Given the description of an element on the screen output the (x, y) to click on. 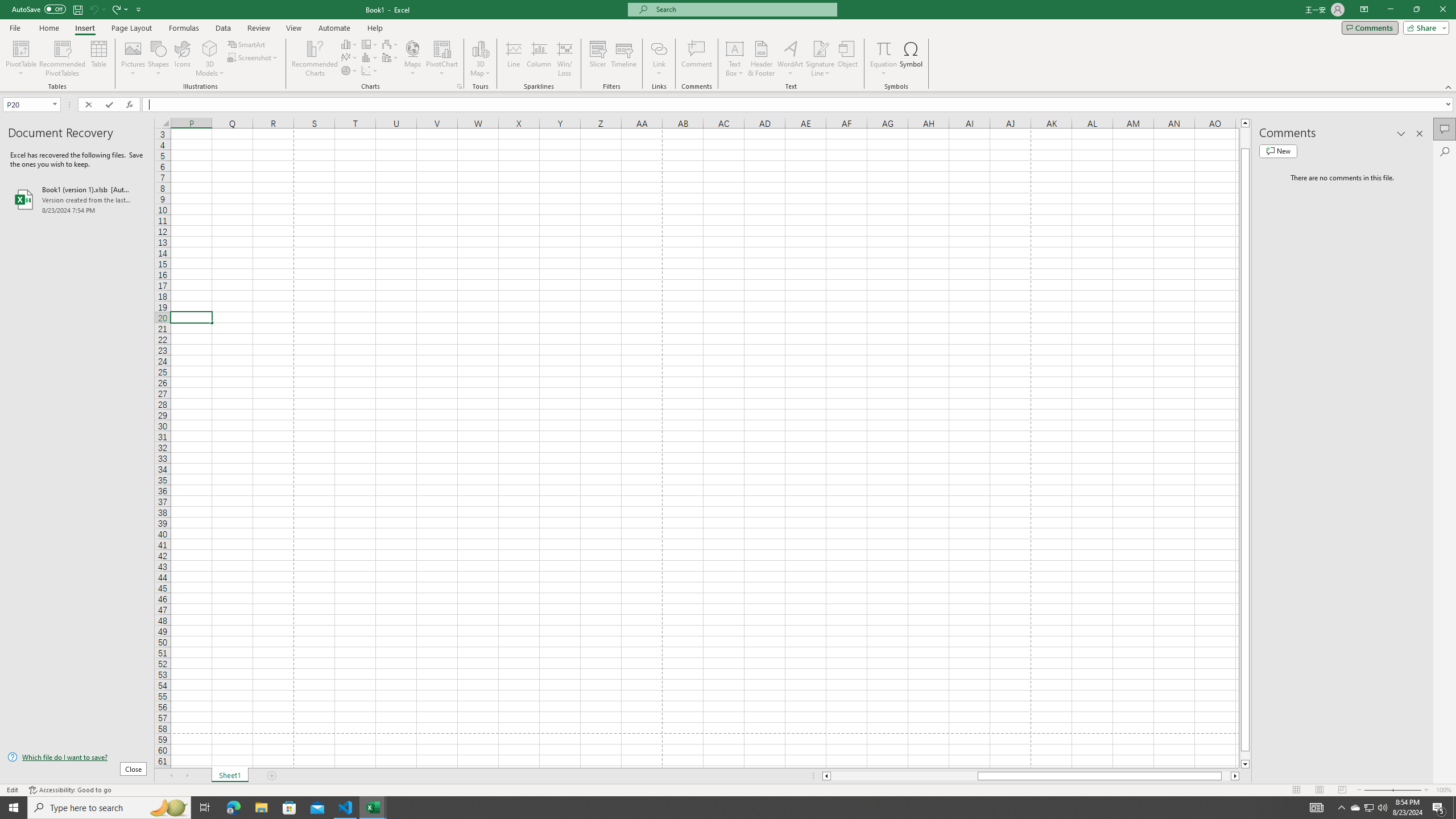
Equation (883, 58)
PivotChart (442, 58)
Comment (696, 58)
Equation (883, 48)
Pictures (133, 58)
Insert Scatter (X, Y) or Bubble Chart (369, 69)
Screenshot (253, 56)
Timeline (623, 58)
